Given the description of an element on the screen output the (x, y) to click on. 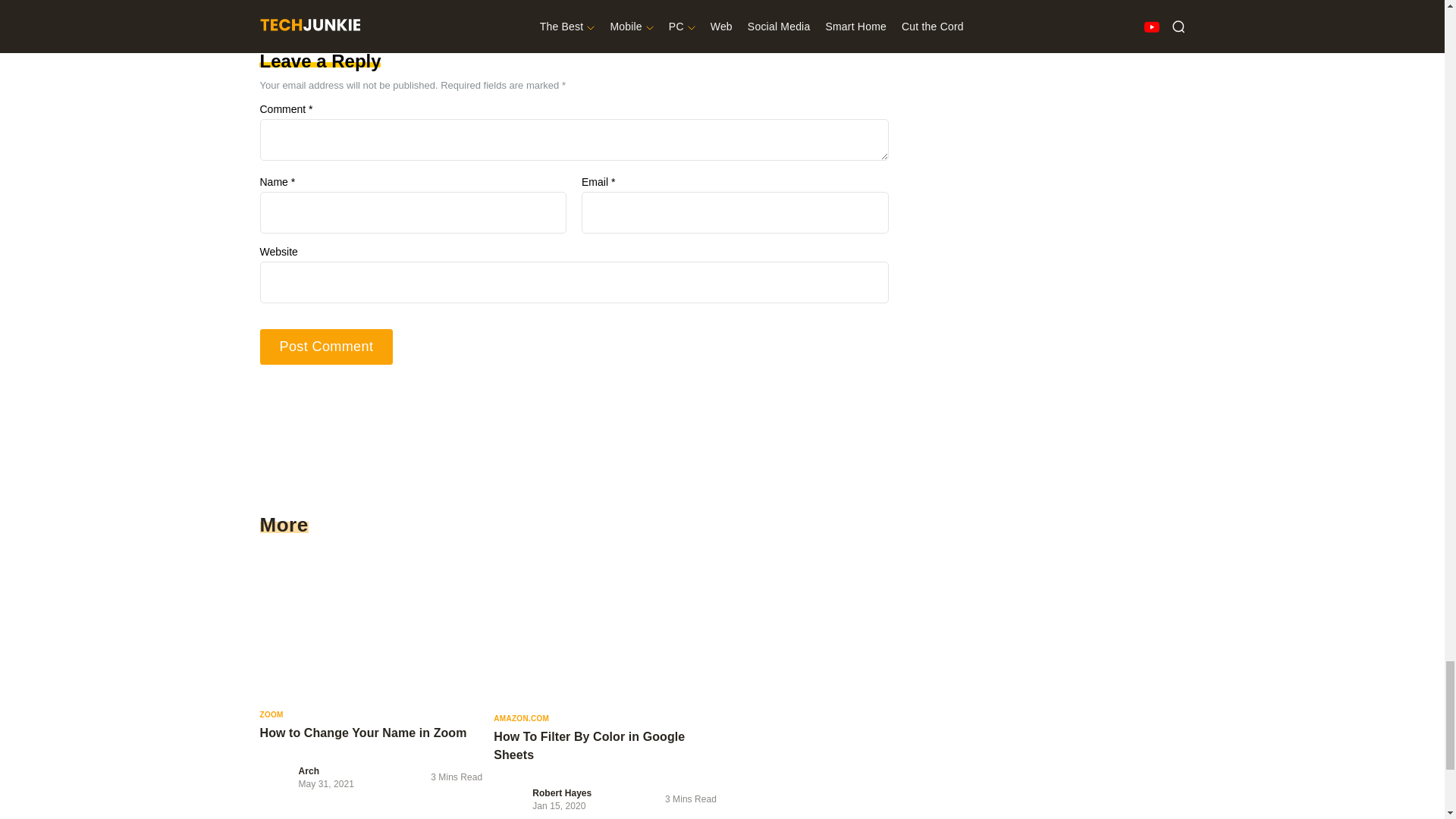
Post Comment (326, 346)
